Given the description of an element on the screen output the (x, y) to click on. 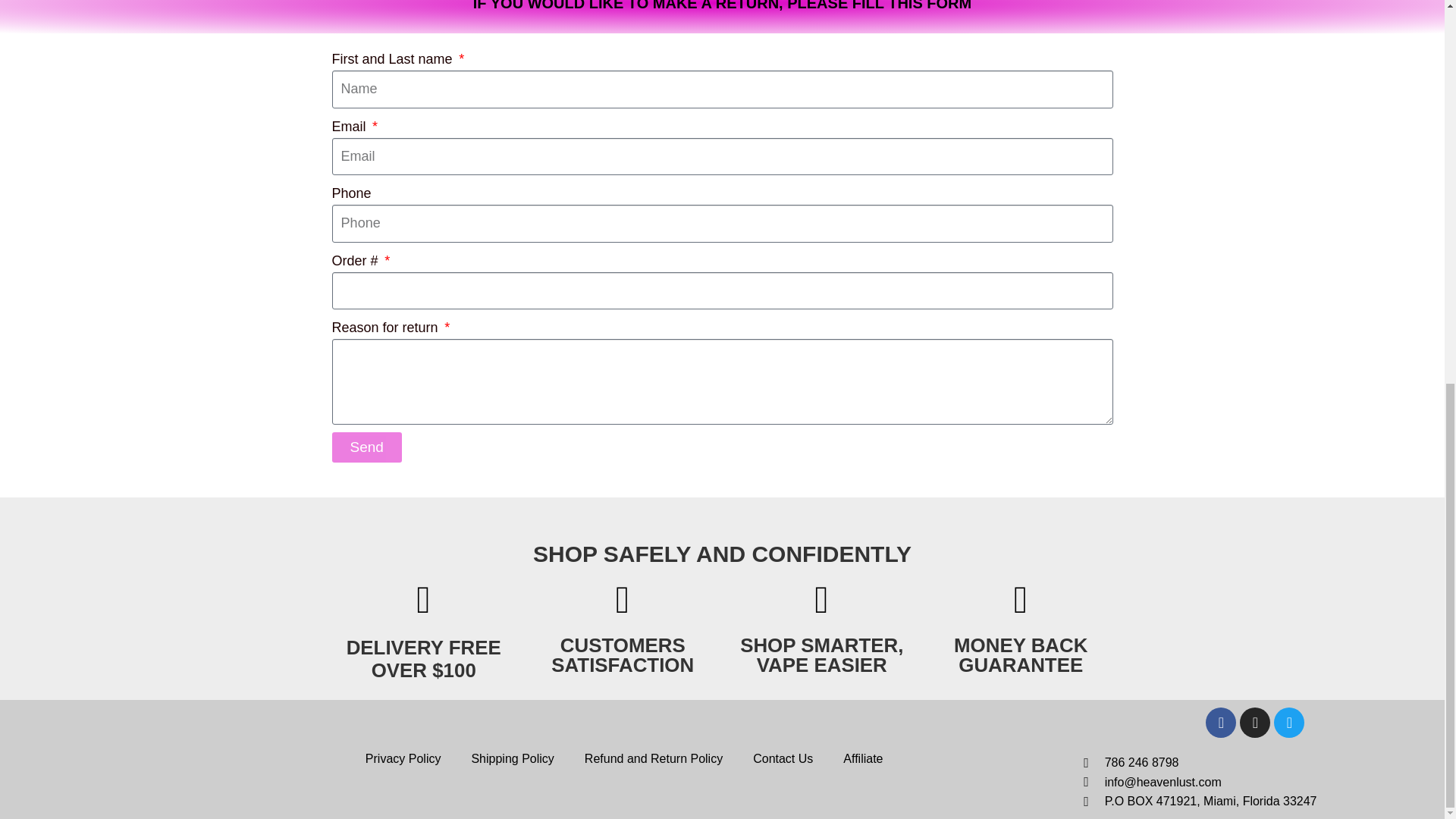
Instagram (1254, 722)
Instagram (1289, 722)
Heaven Lust (85, 758)
Facebook (1220, 722)
